Given the description of an element on the screen output the (x, y) to click on. 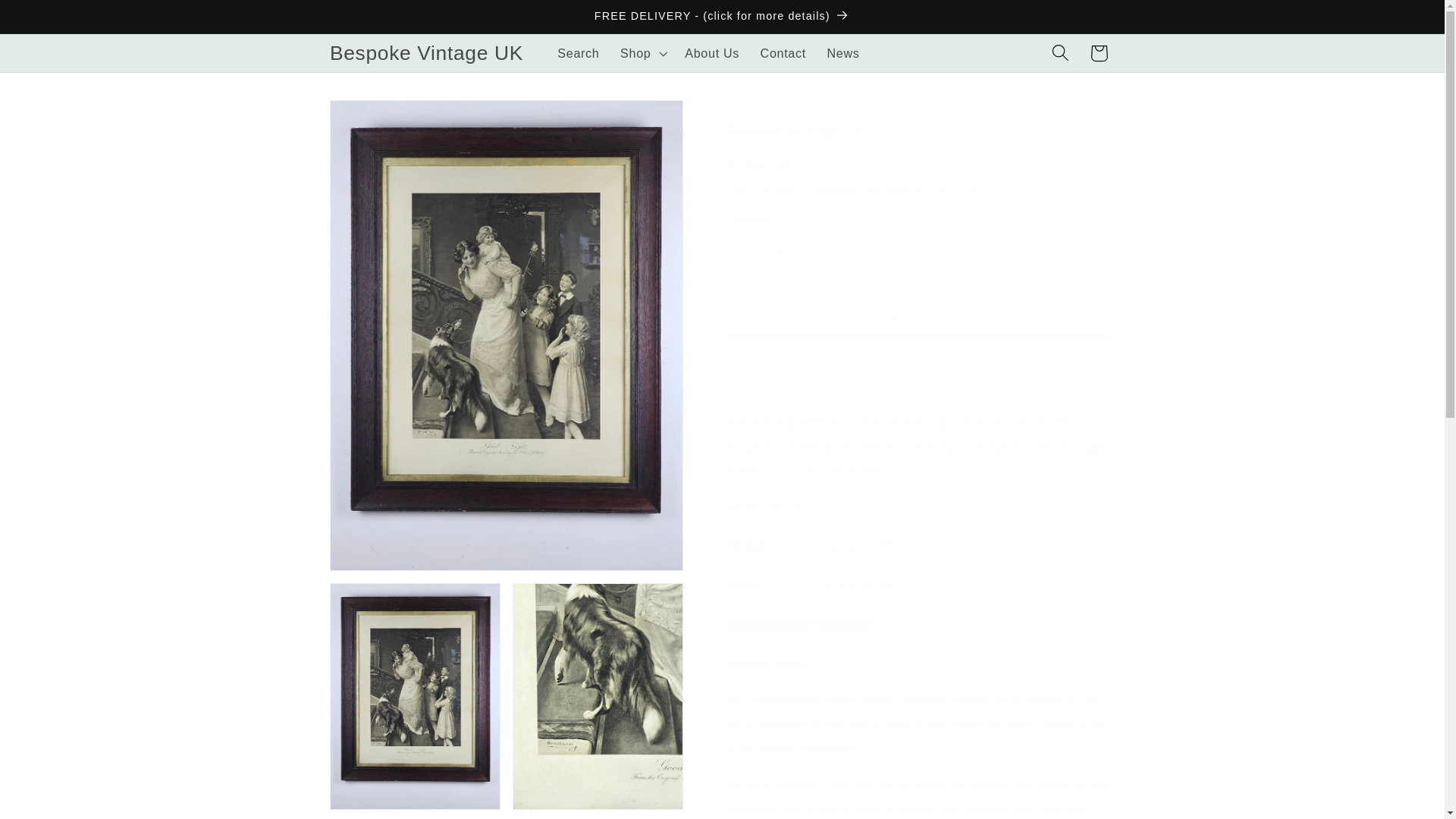
Search (578, 53)
1 (780, 253)
Skip to content (53, 20)
Bespoke Vintage UK (426, 52)
